Given the description of an element on the screen output the (x, y) to click on. 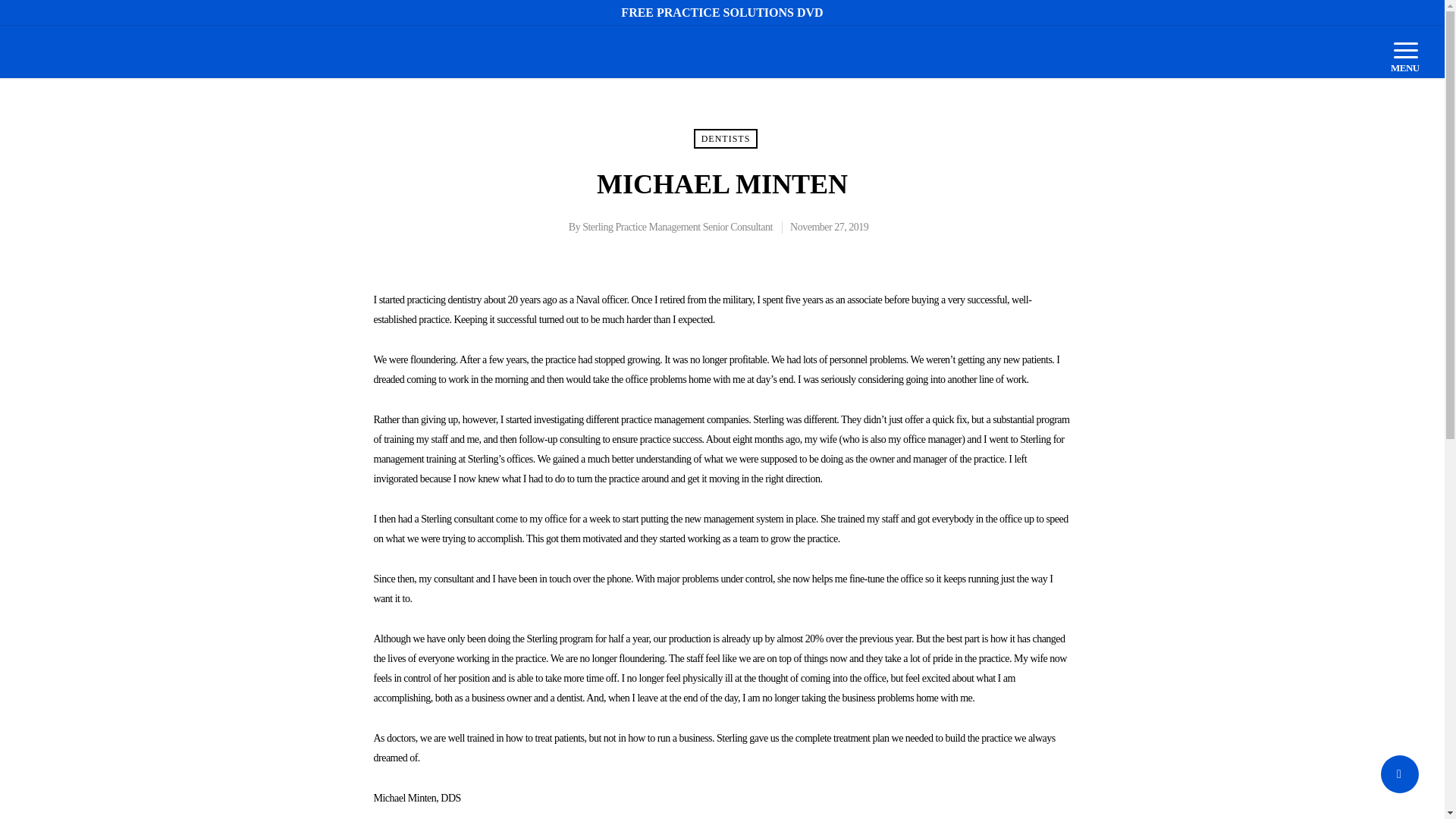
DENTISTS (726, 138)
Sterling Practice Management Senior Consultant (677, 226)
Posts by Sterling Practice Management Senior Consultant (677, 226)
FREE PRACTICE SOLUTIONS DVD (721, 11)
